Given the description of an element on the screen output the (x, y) to click on. 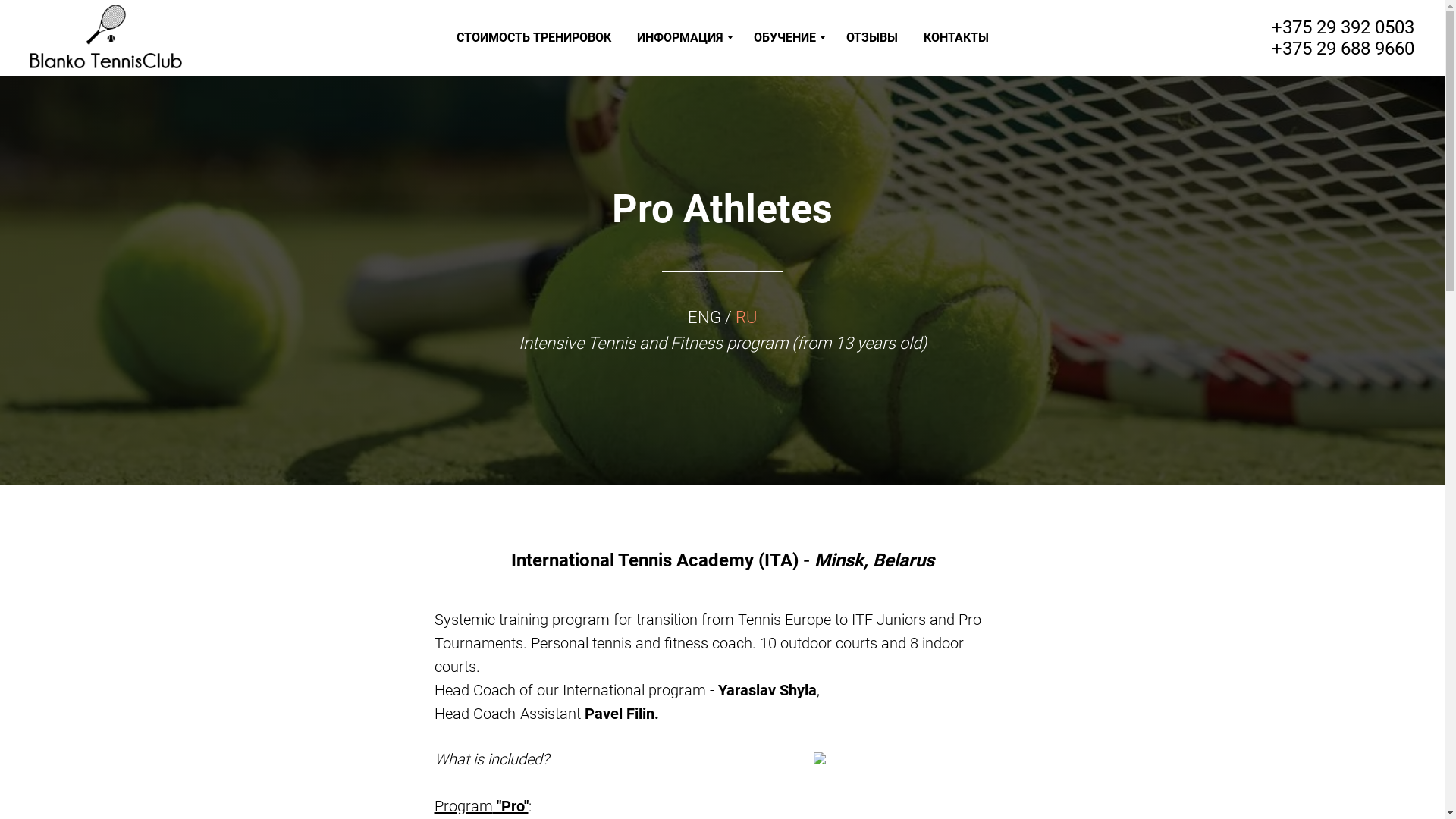
+375 29 392 0503
+ Element type: text (1342, 37)
RU Element type: text (745, 316)
